Given the description of an element on the screen output the (x, y) to click on. 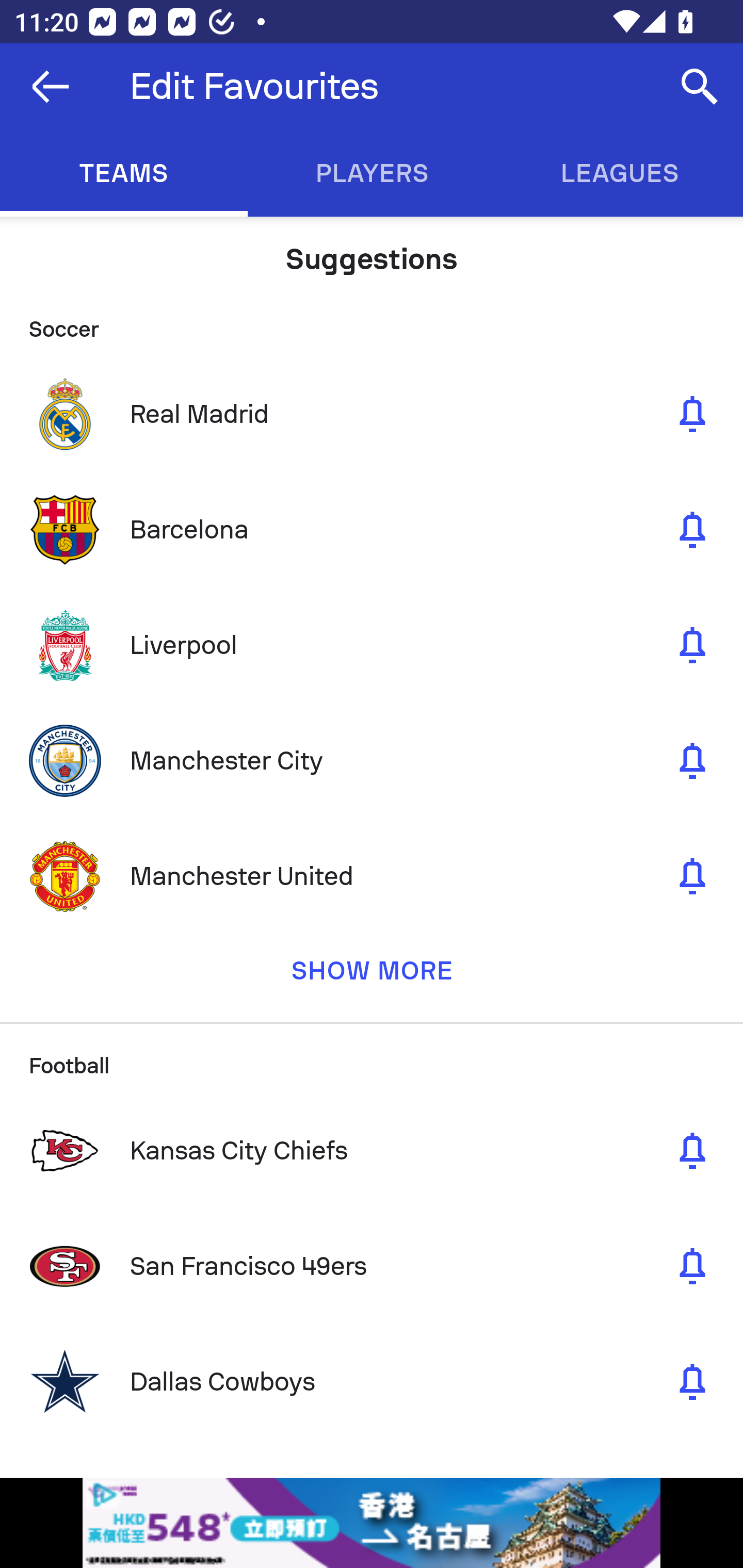
Navigate up (50, 86)
Search (699, 86)
Players PLAYERS (371, 173)
Leagues LEAGUES (619, 173)
Suggestions (371, 251)
Soccer (371, 320)
Real Madrid (371, 413)
Barcelona (371, 529)
Liverpool (371, 645)
Manchester City (371, 760)
Manchester United (371, 876)
SHOW MORE (371, 978)
Football (371, 1057)
Kansas City Chiefs (371, 1150)
San Francisco 49ers (371, 1265)
Dallas Cowboys (371, 1381)
ysfecx5i_320x50 (371, 1522)
